Given the description of an element on the screen output the (x, y) to click on. 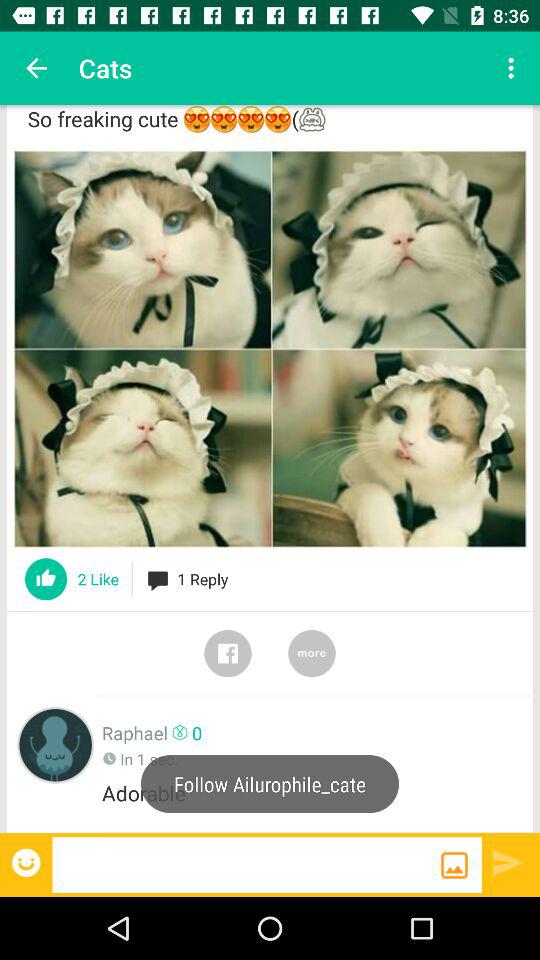
go to blank bar (246, 864)
